Given the description of an element on the screen output the (x, y) to click on. 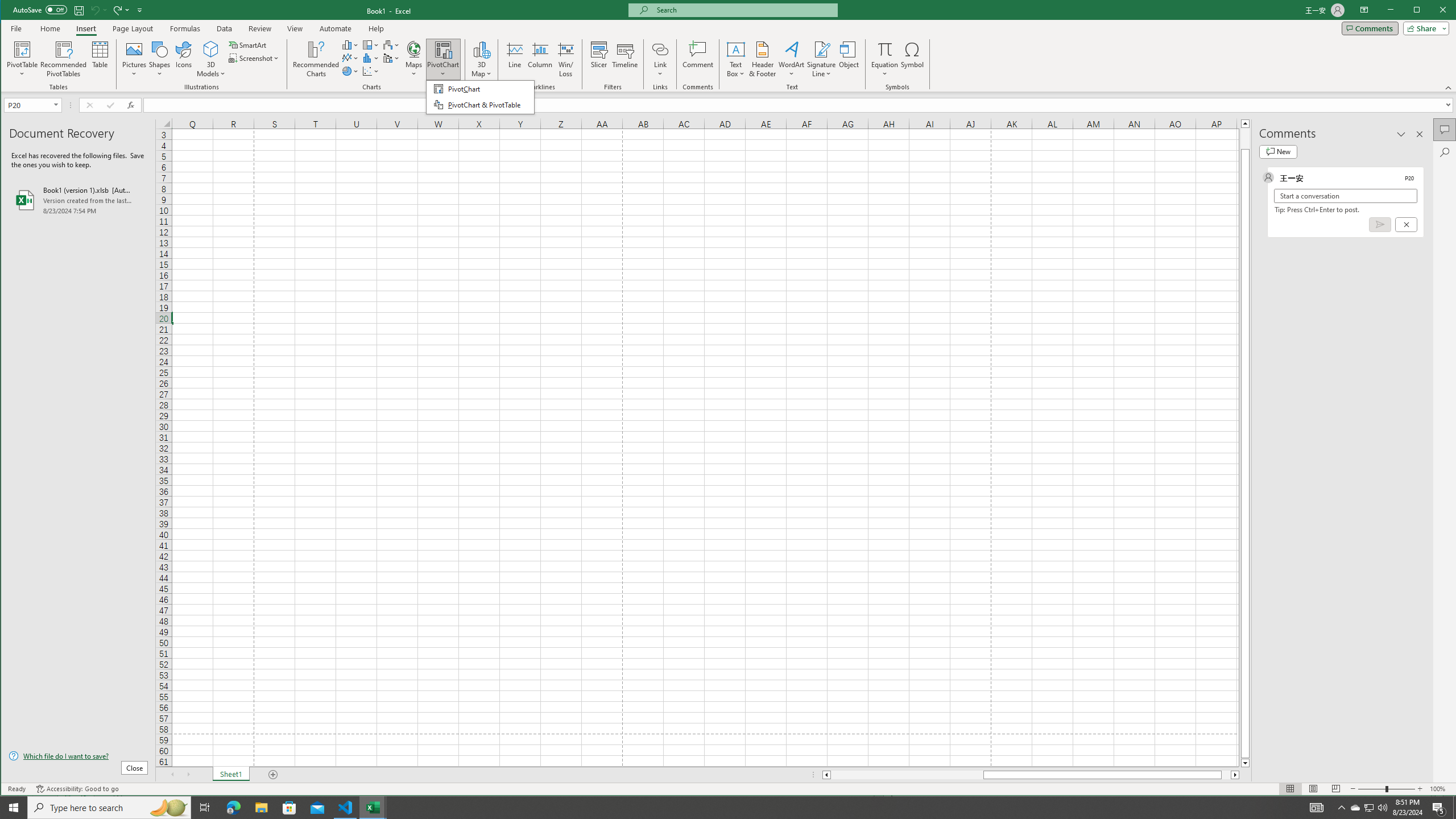
Insert Hierarchy Chart (371, 44)
WordArt (1368, 807)
Pivot&Chart (791, 59)
Type here to search (480, 97)
Microsoft Store (108, 807)
3D Models (289, 807)
3D Map (211, 59)
